Given the description of an element on the screen output the (x, y) to click on. 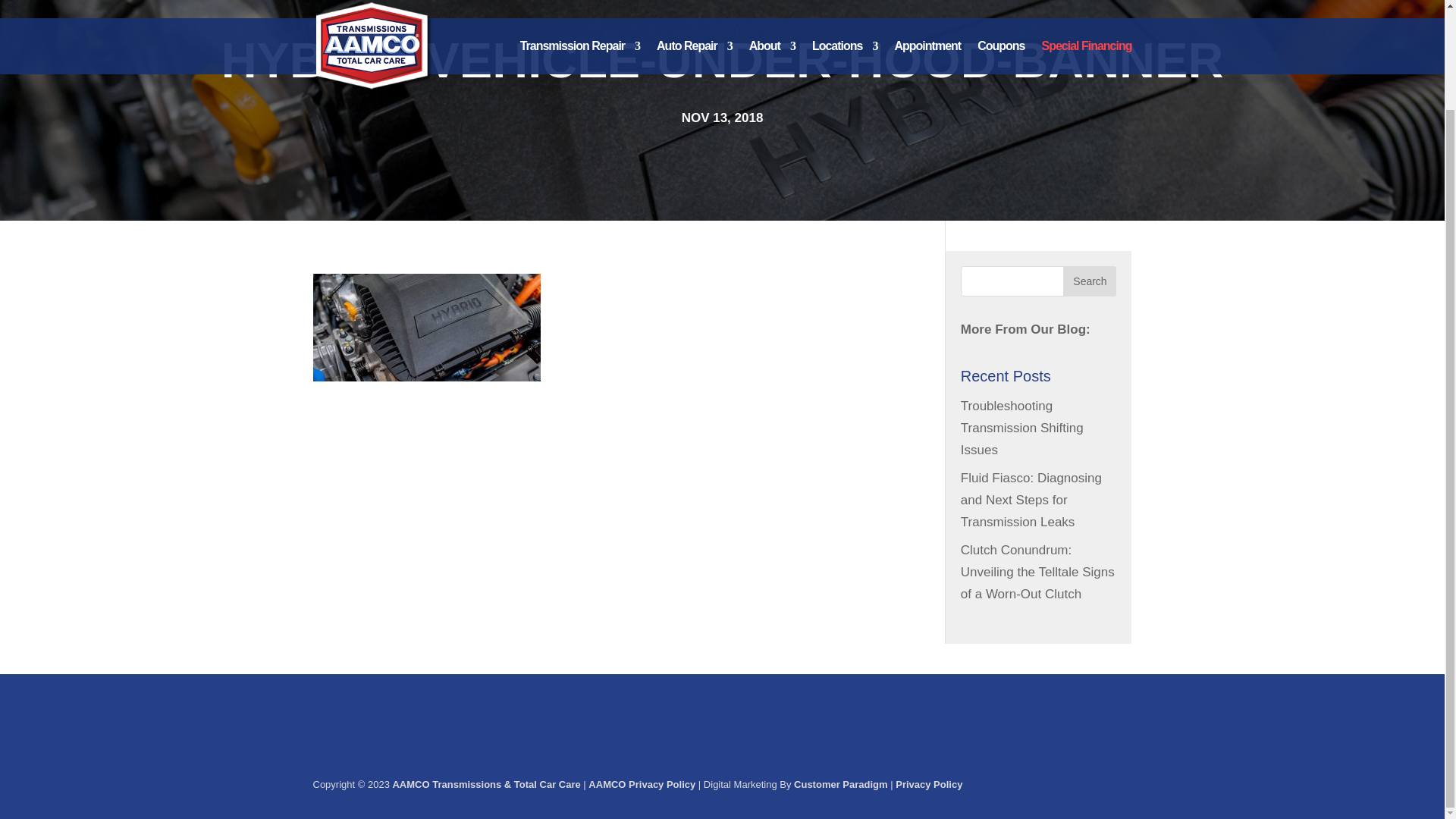
Search (1089, 281)
